Given the description of an element on the screen output the (x, y) to click on. 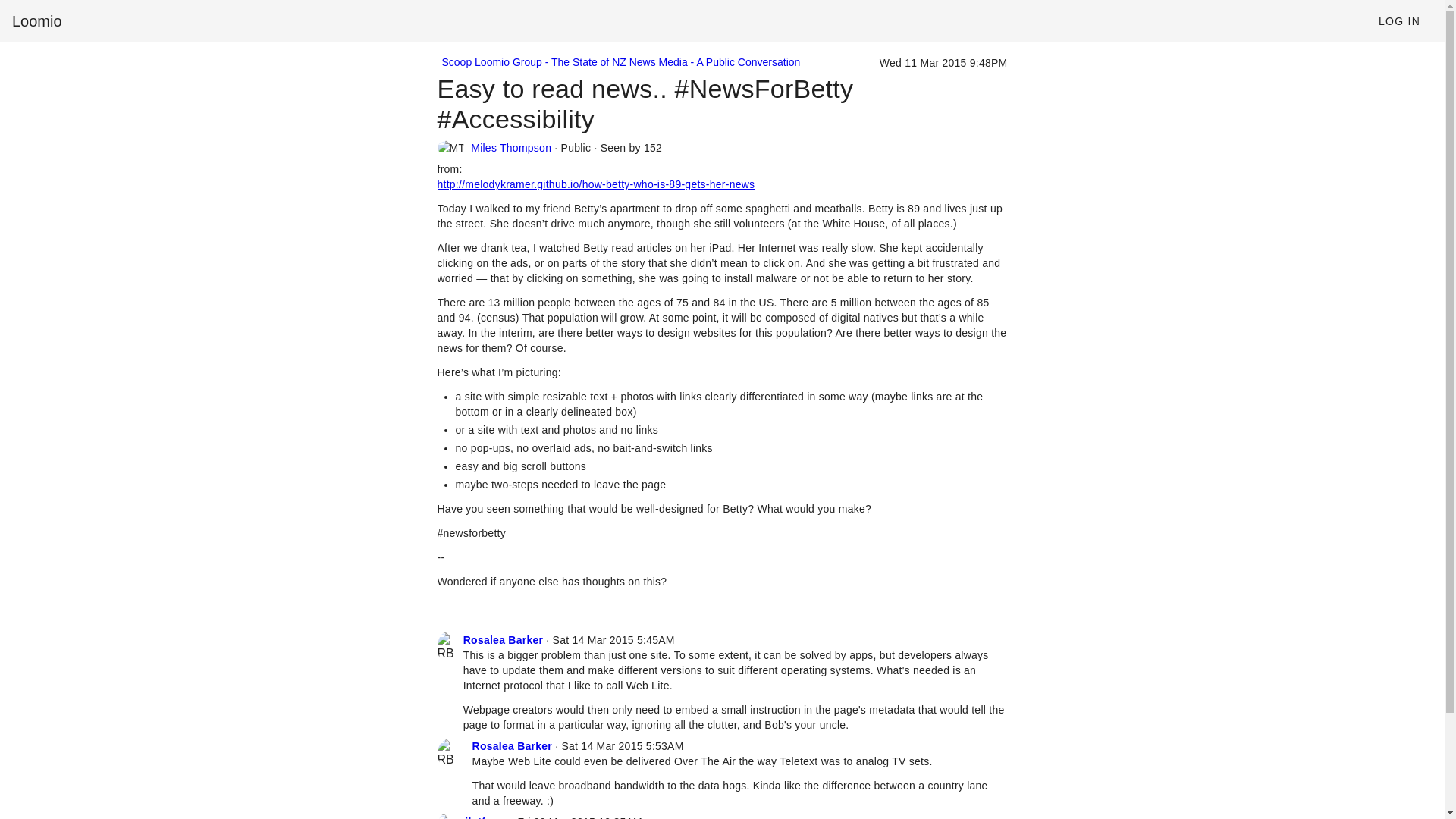
2015-03-11 21:48:15 UTC (943, 61)
Miles Thompson (510, 147)
2015-03-14 05:45:58 UTC (614, 639)
LOG IN (1398, 21)
2015-03-20 10:35:18 UTC (579, 817)
Rosalea Barker (511, 746)
Rosalea Barker (503, 639)
pilotfever (483, 817)
2015-03-14 05:53:39 UTC (621, 746)
